Given the description of an element on the screen output the (x, y) to click on. 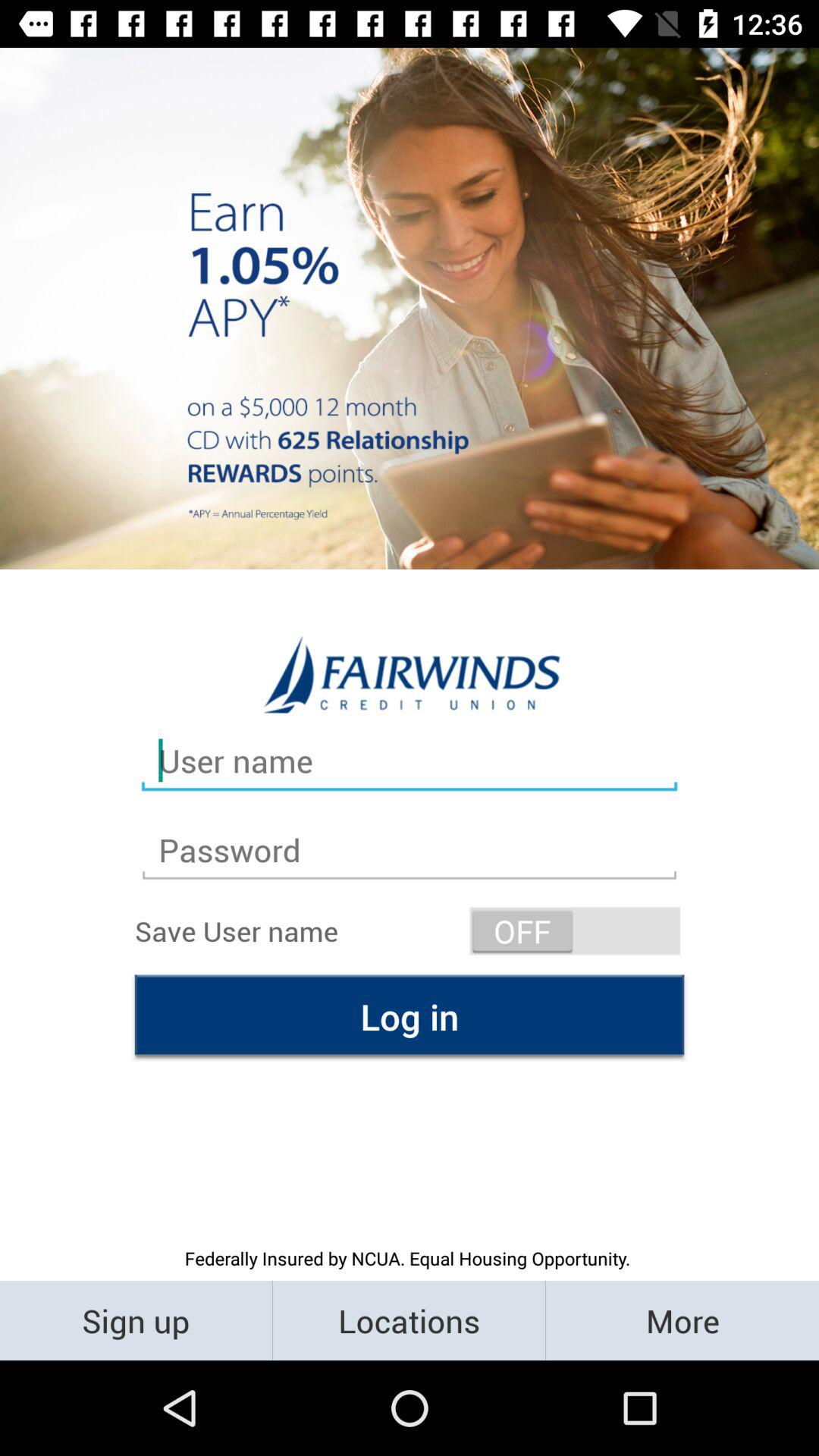
jump until the log in item (409, 1016)
